Given the description of an element on the screen output the (x, y) to click on. 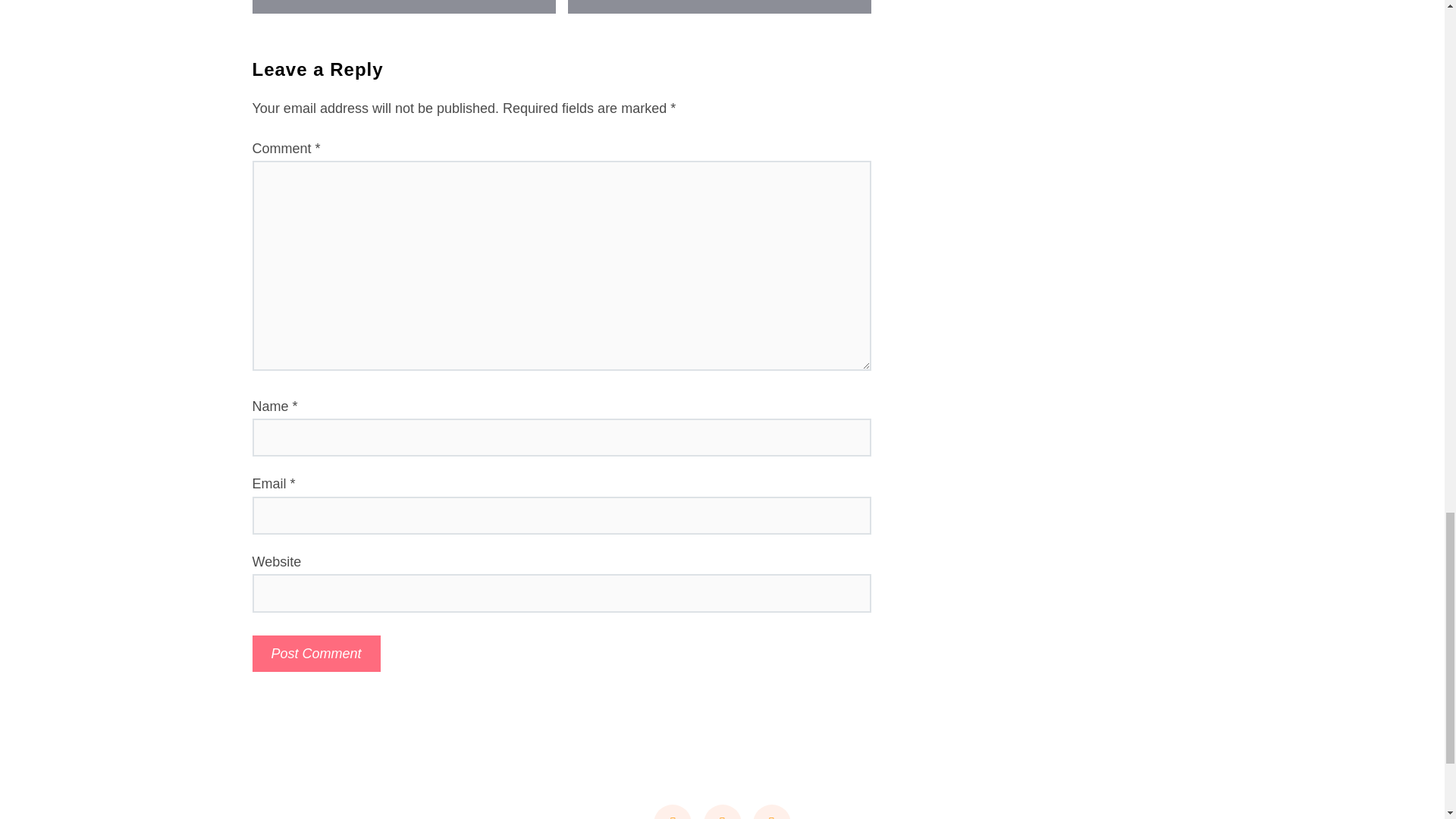
Twitter (722, 811)
Post Comment (315, 653)
Linkedin (672, 811)
Post Comment (315, 653)
